Given the description of an element on the screen output the (x, y) to click on. 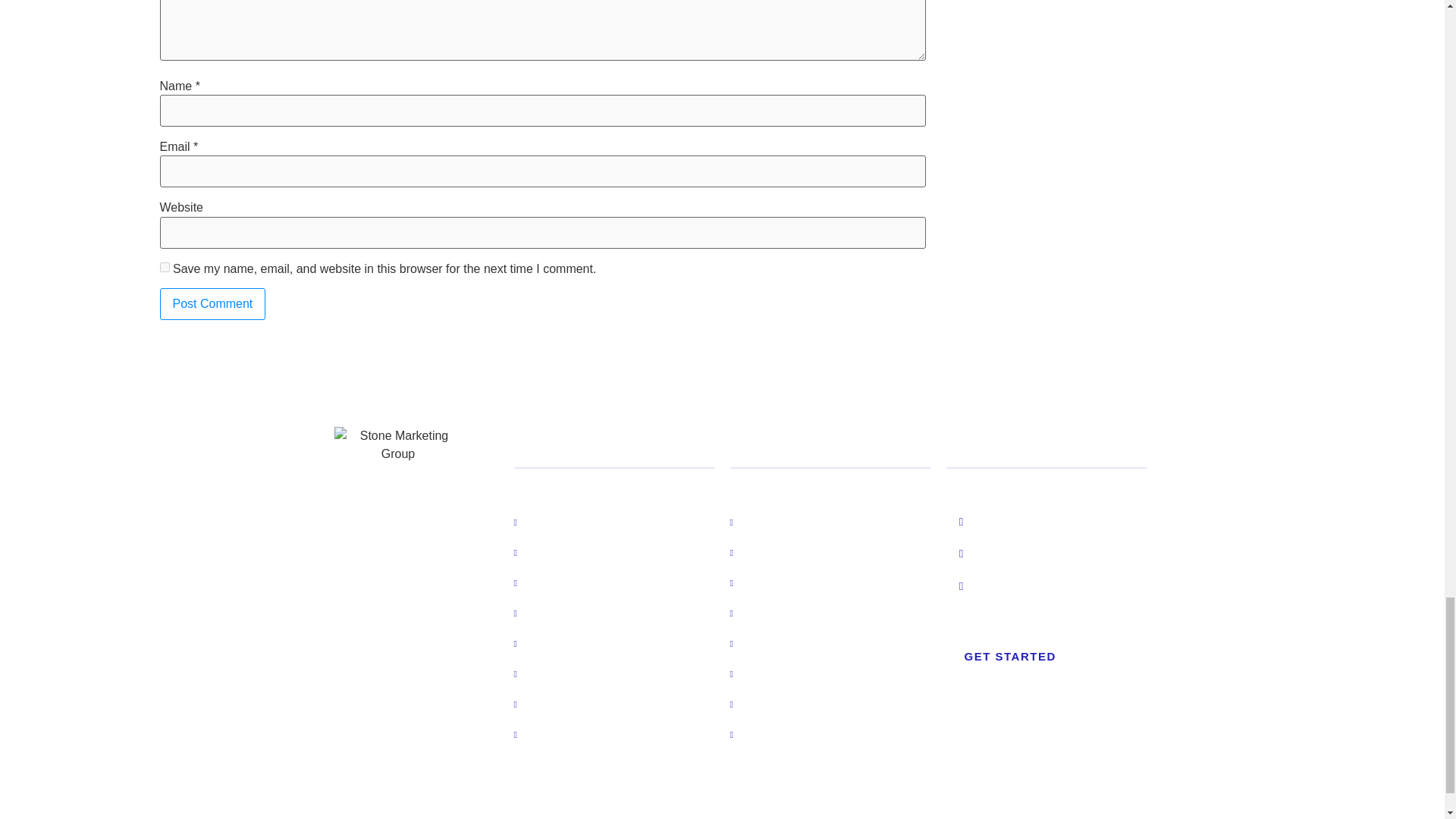
yes (163, 266)
Latest Blog (552, 581)
Client Testimonials (572, 642)
About Us (548, 551)
Post Comment (211, 304)
Our Services (557, 612)
Home (539, 521)
Post Comment (211, 304)
